Given the description of an element on the screen output the (x, y) to click on. 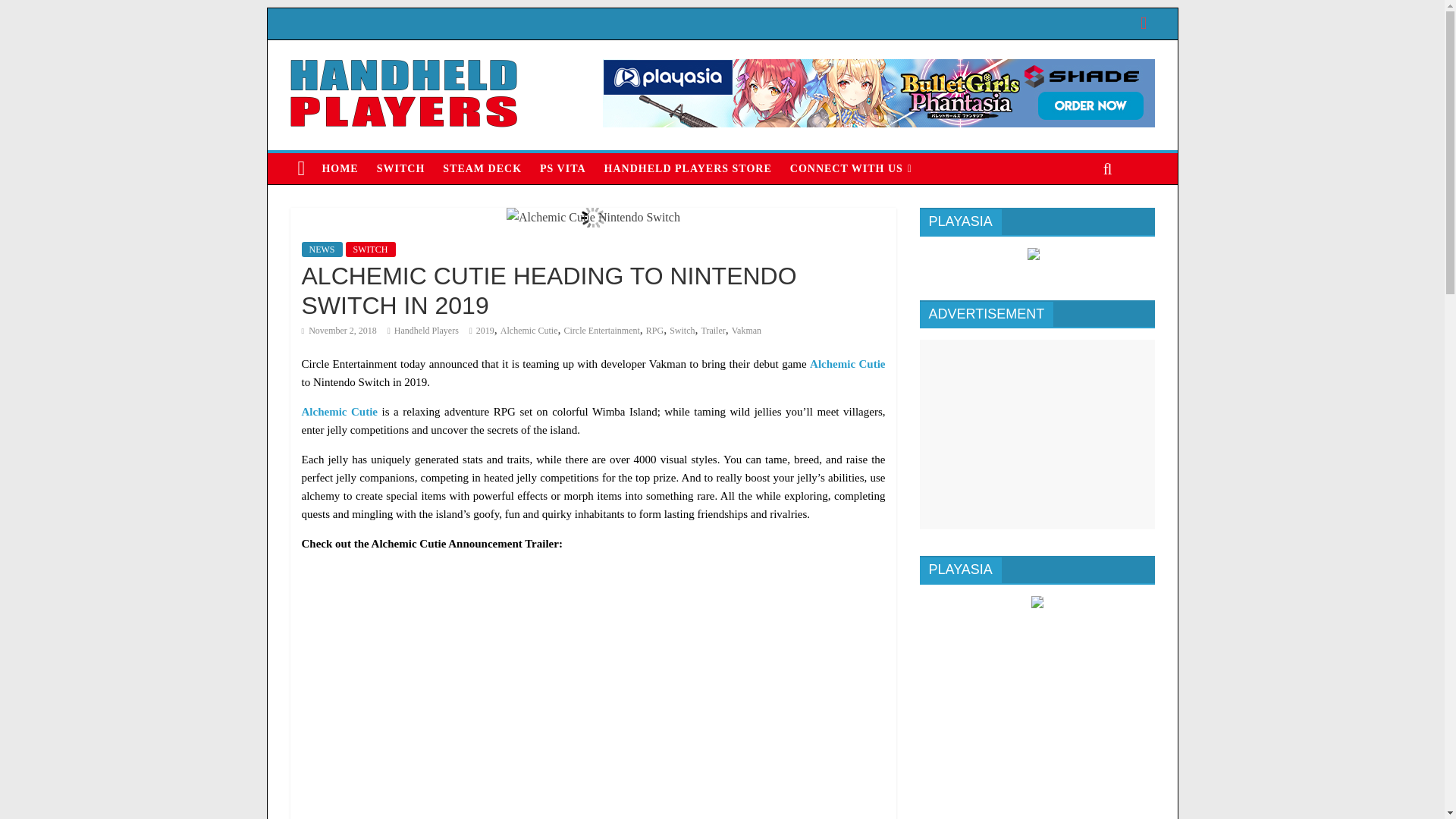
16:14 (339, 330)
NEWS (321, 249)
2019 (485, 330)
Handheld Players (426, 330)
Alchemic Cutie (528, 330)
Handheld Players (426, 330)
RPG (654, 330)
SWITCH (371, 249)
SWITCH (400, 168)
